Given the description of an element on the screen output the (x, y) to click on. 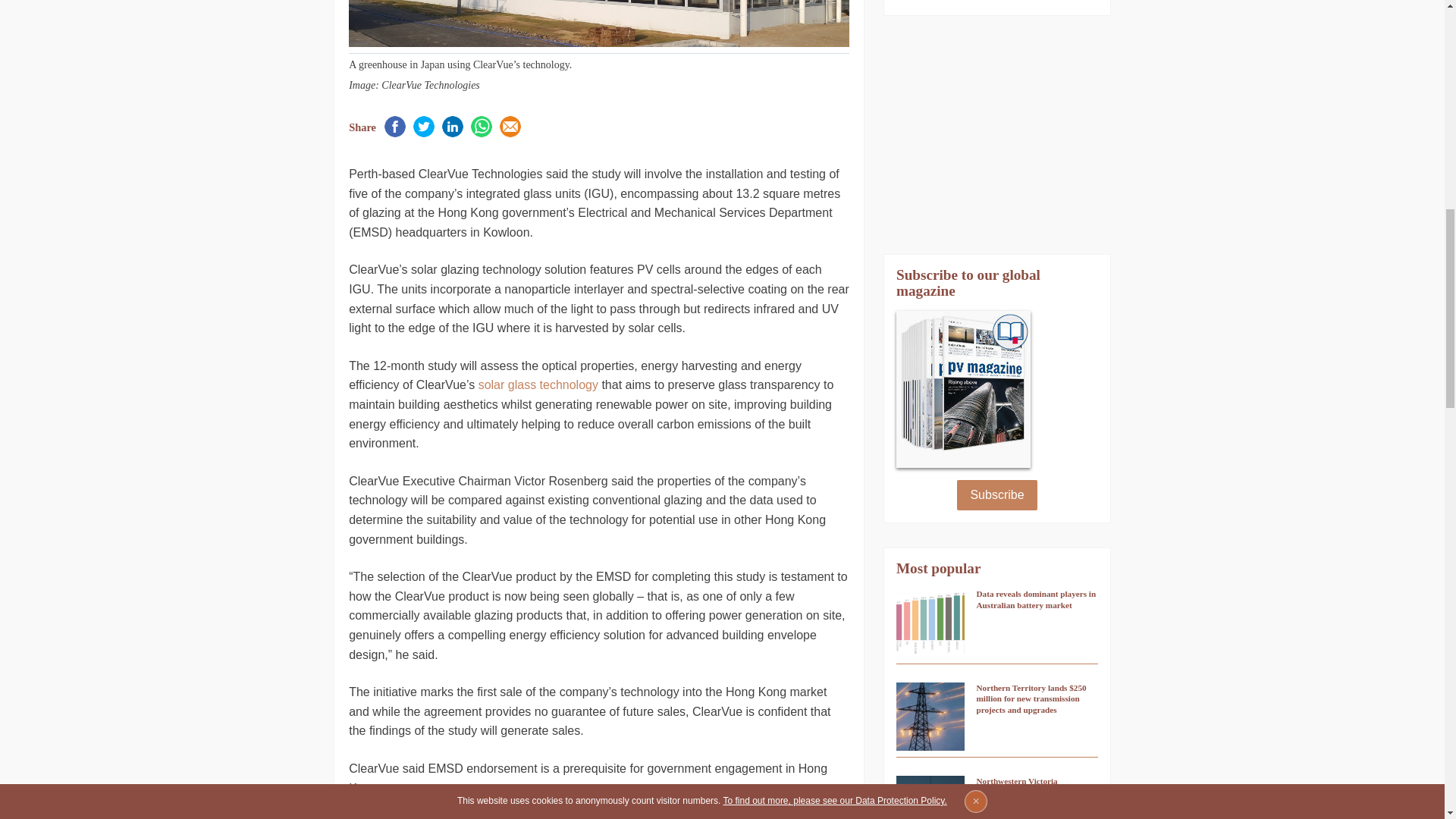
3rd party ad content (996, 135)
